Given the description of an element on the screen output the (x, y) to click on. 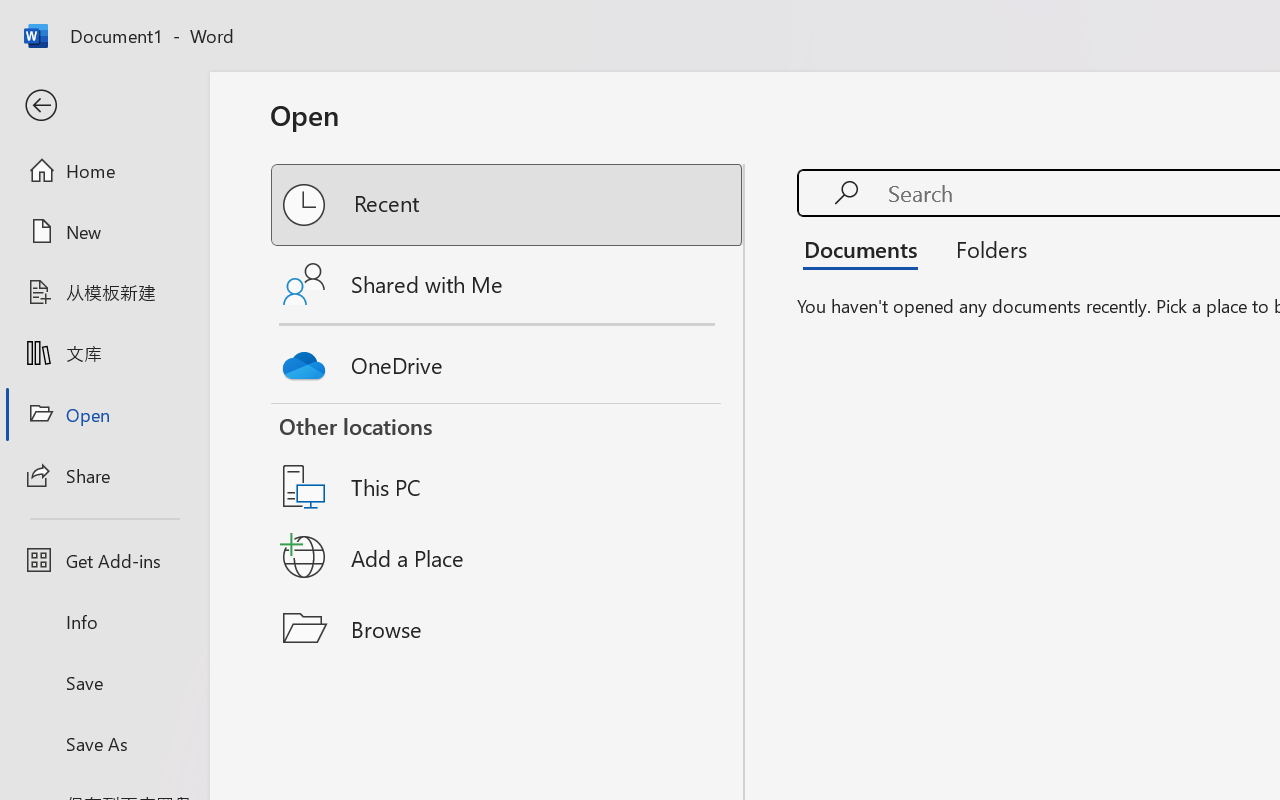
Add a Place (507, 557)
This PC (507, 461)
Get Add-ins (104, 560)
Save As (104, 743)
Back (104, 106)
Shared with Me (507, 283)
Documents (866, 248)
Recent (507, 205)
OneDrive (507, 359)
